Given the description of an element on the screen output the (x, y) to click on. 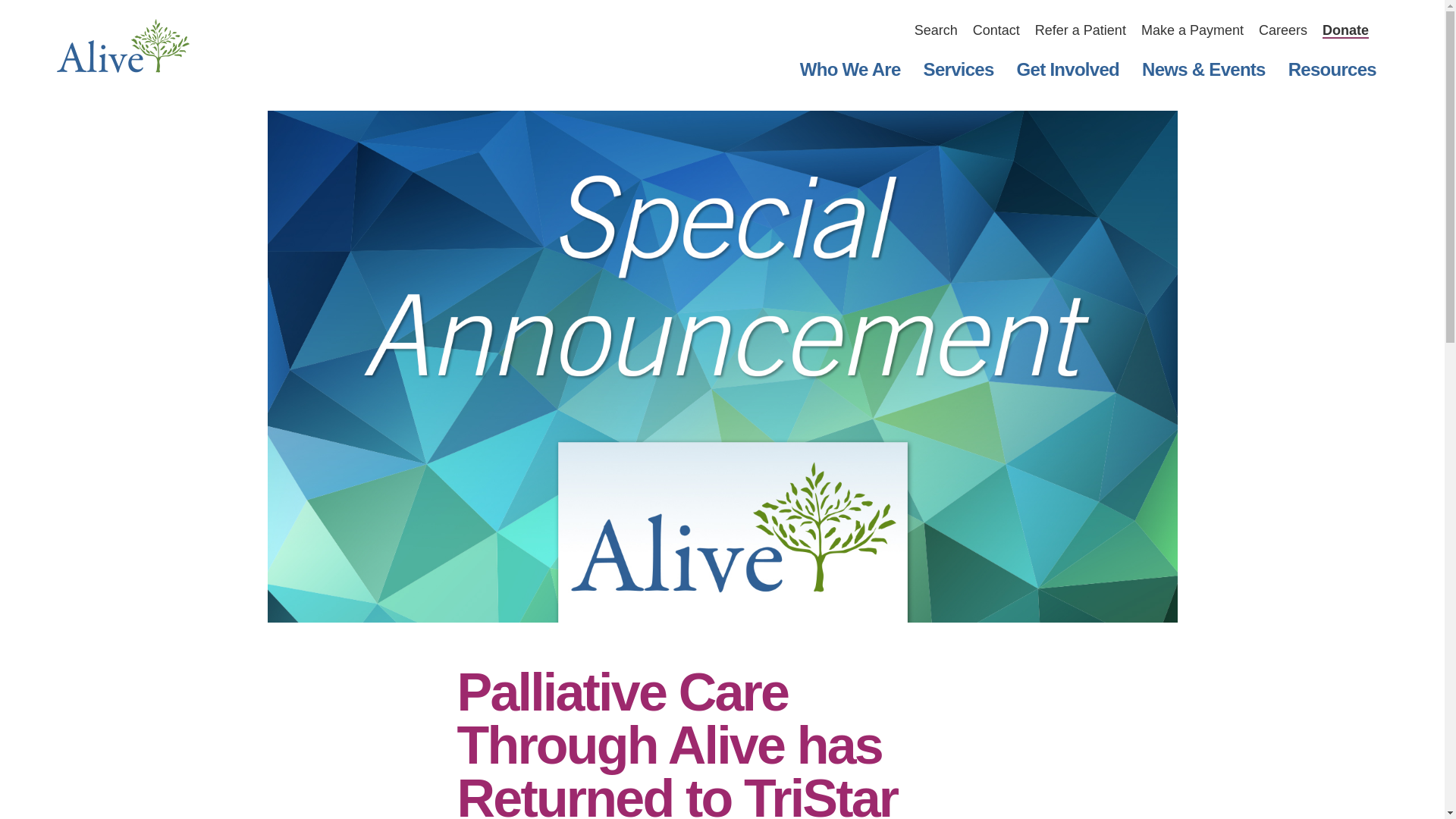
Who We Are (850, 69)
Make a Payment (1192, 30)
Refer a Patient (1080, 30)
Careers (1283, 30)
Get Involved (1068, 69)
Search (936, 30)
Resources (1331, 69)
Contact (996, 30)
Services (959, 69)
Donate (1345, 30)
